Given the description of an element on the screen output the (x, y) to click on. 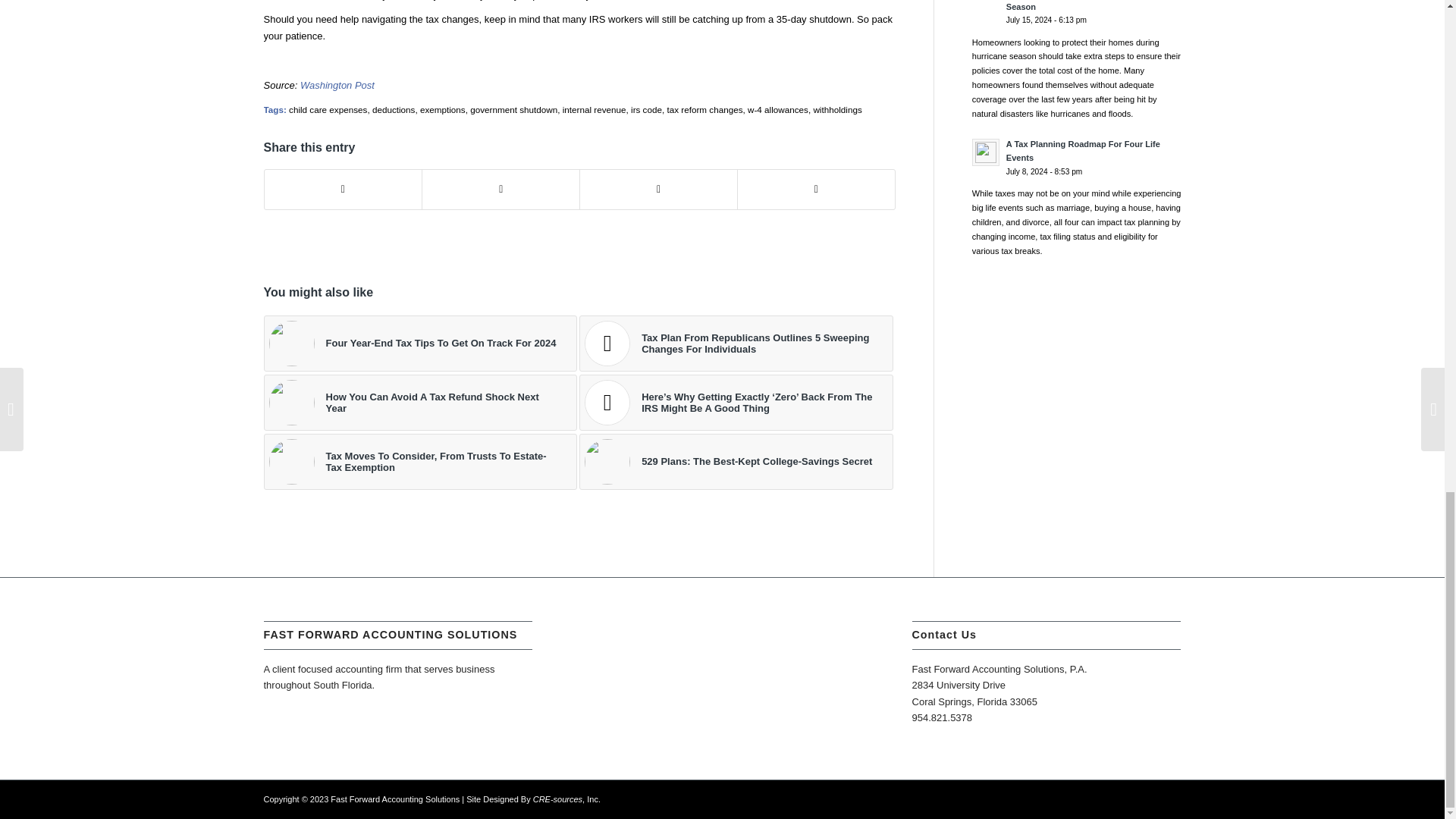
canstockphoto98354122-2 (290, 343)
How You Can Avoid A Tax Refund Shock Next Year (420, 402)
tax reform changes (704, 109)
Four Year-End Tax Tips To Get On Track For 2024 (420, 343)
Four Year-End Tax Tips To Get On Track For 2024 (420, 343)
child care expenses (327, 109)
deductions (393, 109)
government shutdown (513, 109)
